Given the description of an element on the screen output the (x, y) to click on. 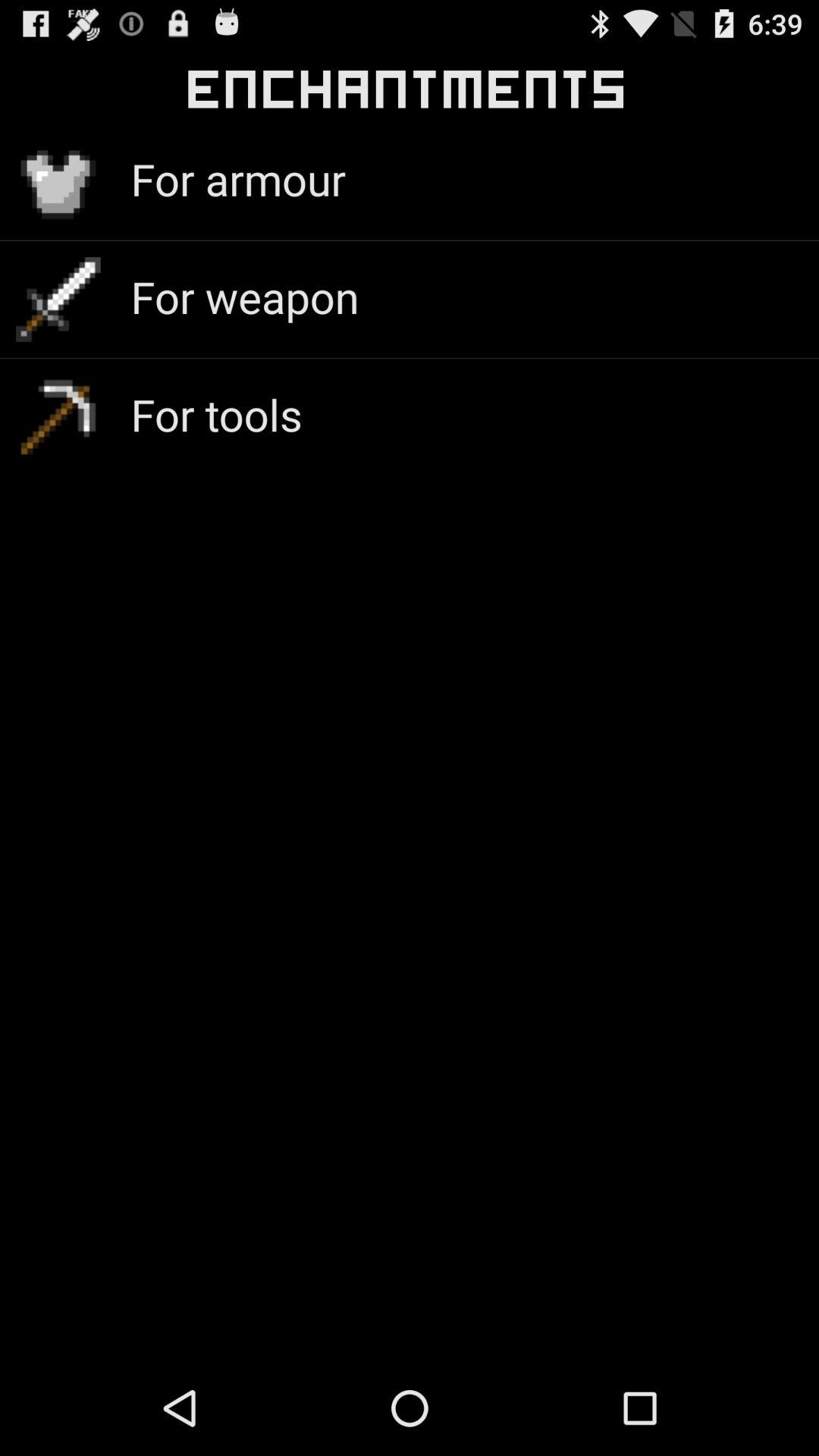
launch app below the for armour (244, 296)
